Given the description of an element on the screen output the (x, y) to click on. 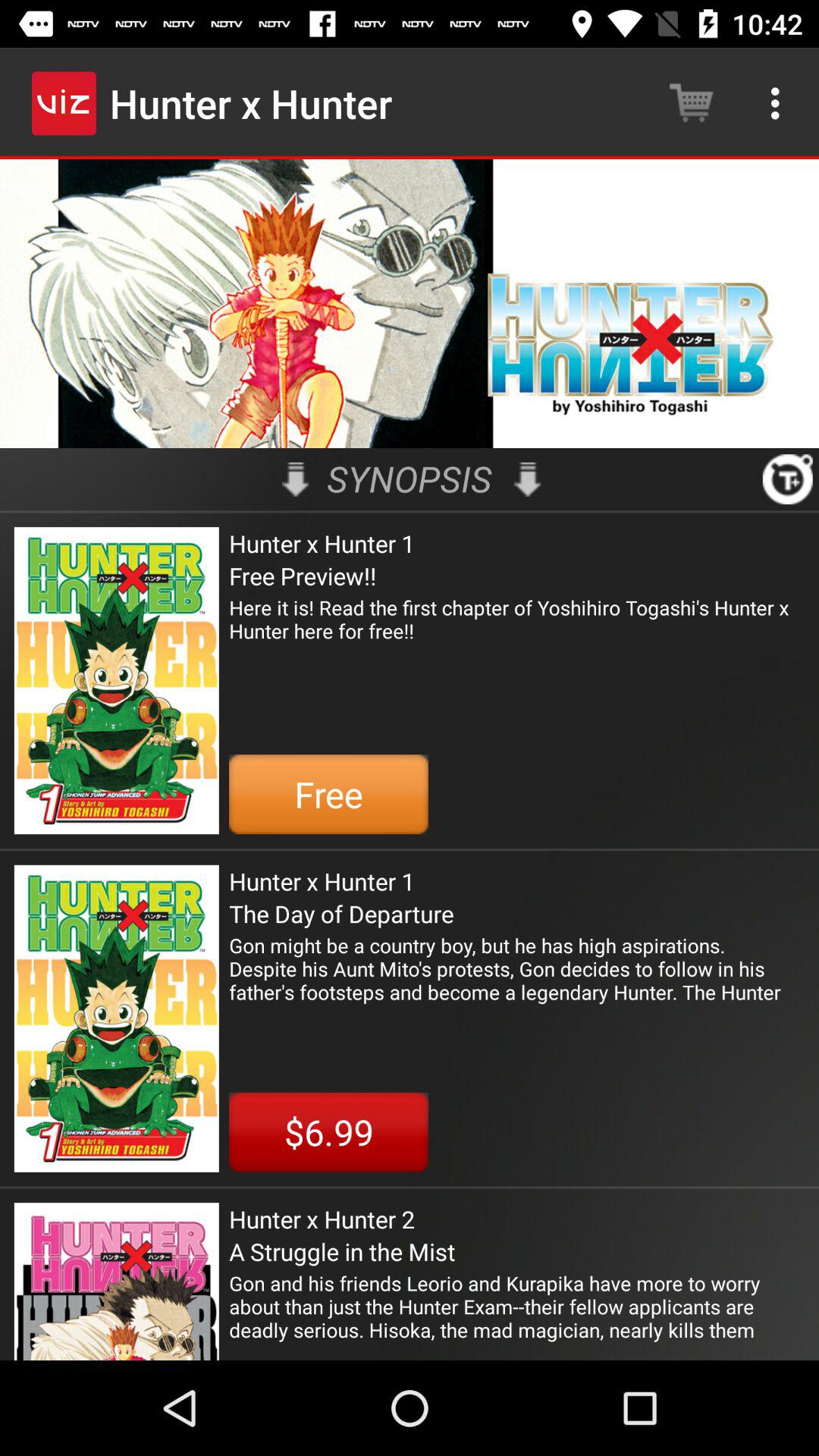
click the item to the left of synopsis (295, 479)
